Given the description of an element on the screen output the (x, y) to click on. 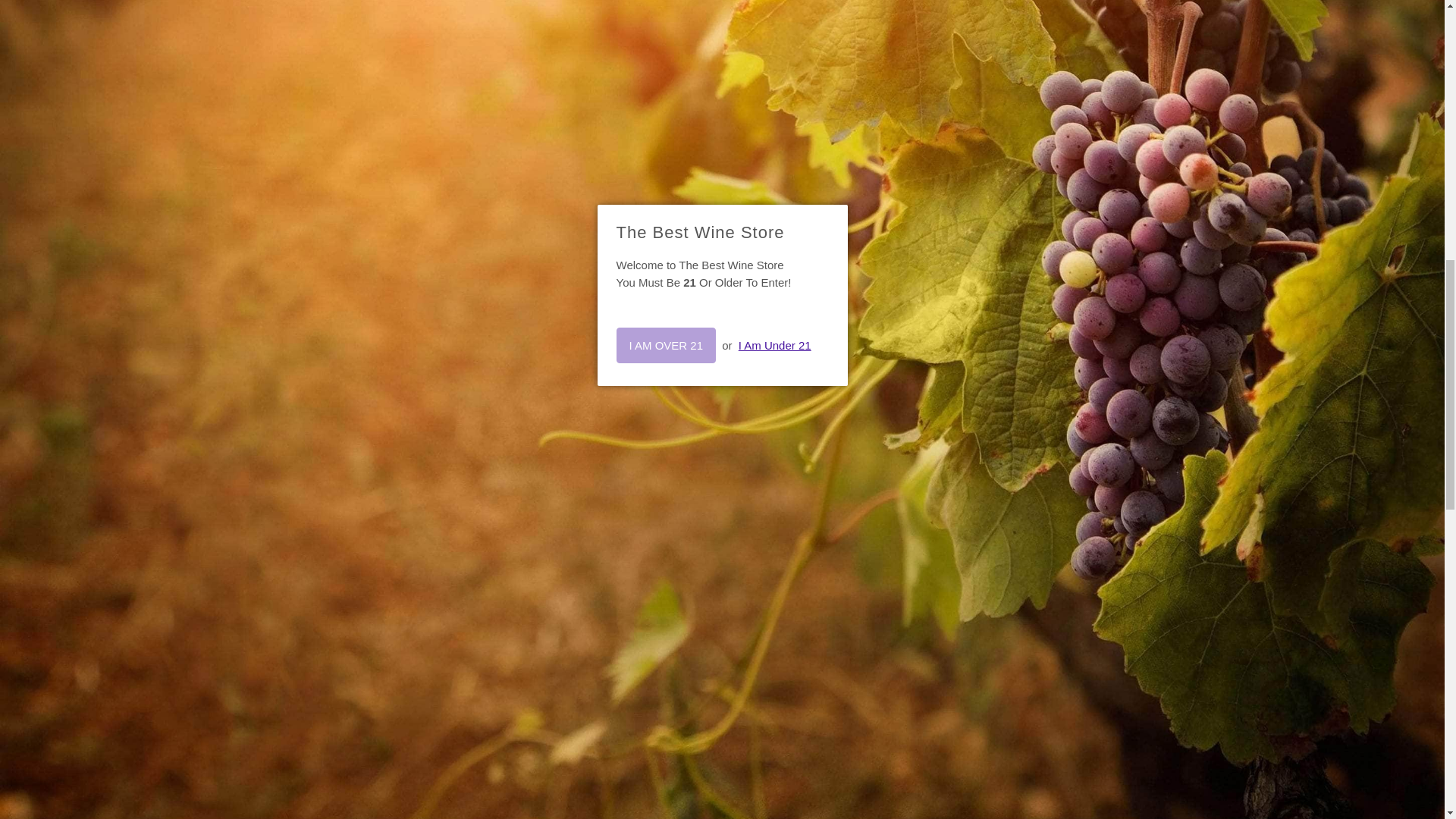
Share this on Twitter (841, 403)
Email this to a friend (938, 403)
Share this on Facebook (871, 403)
Share this on Pinterest (904, 403)
